Given the description of an element on the screen output the (x, y) to click on. 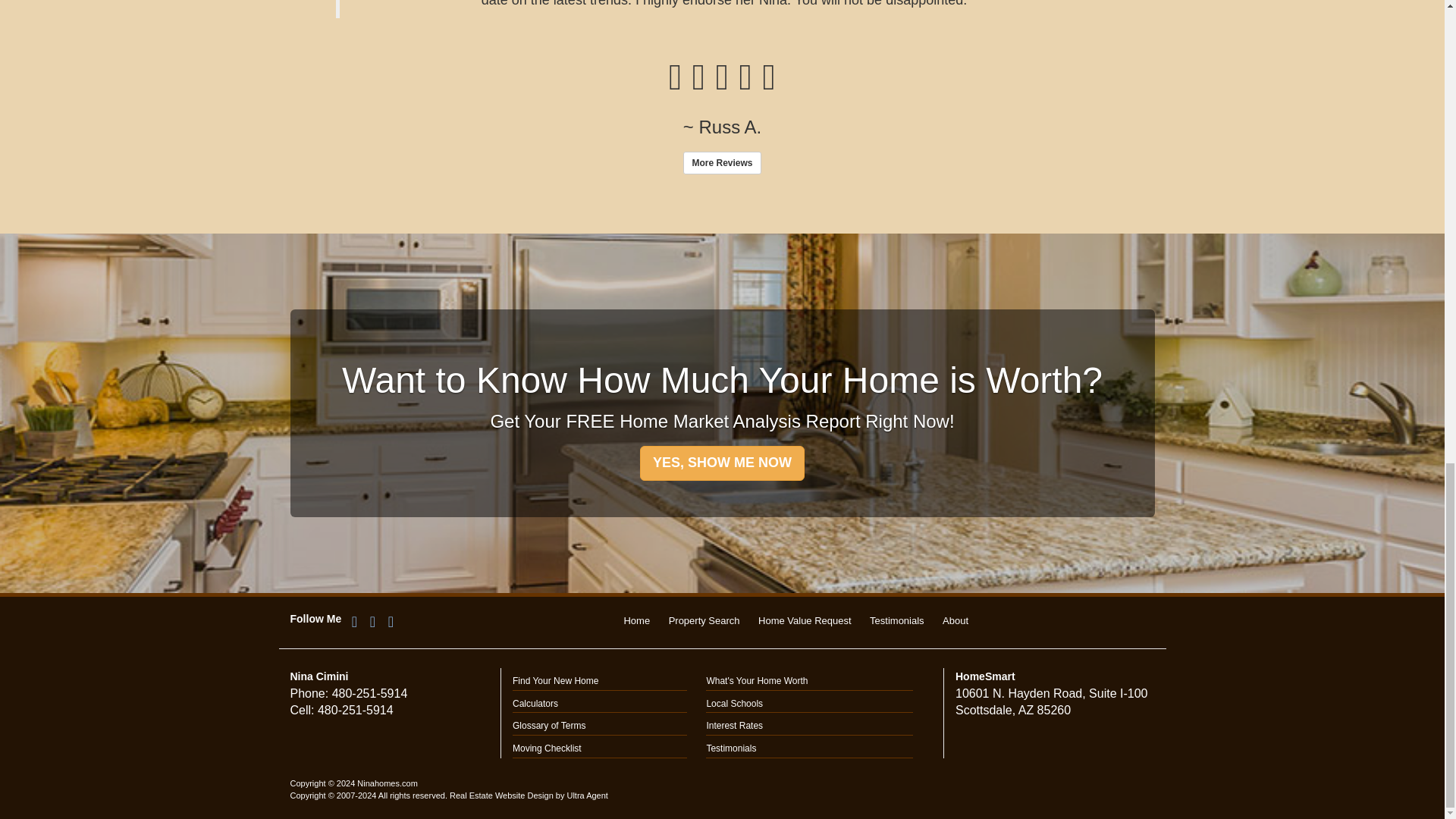
YES, SHOW ME NOW (722, 462)
More Reviews (721, 162)
Property Search (703, 620)
Home (636, 620)
Home Value Request (804, 620)
